Given the description of an element on the screen output the (x, y) to click on. 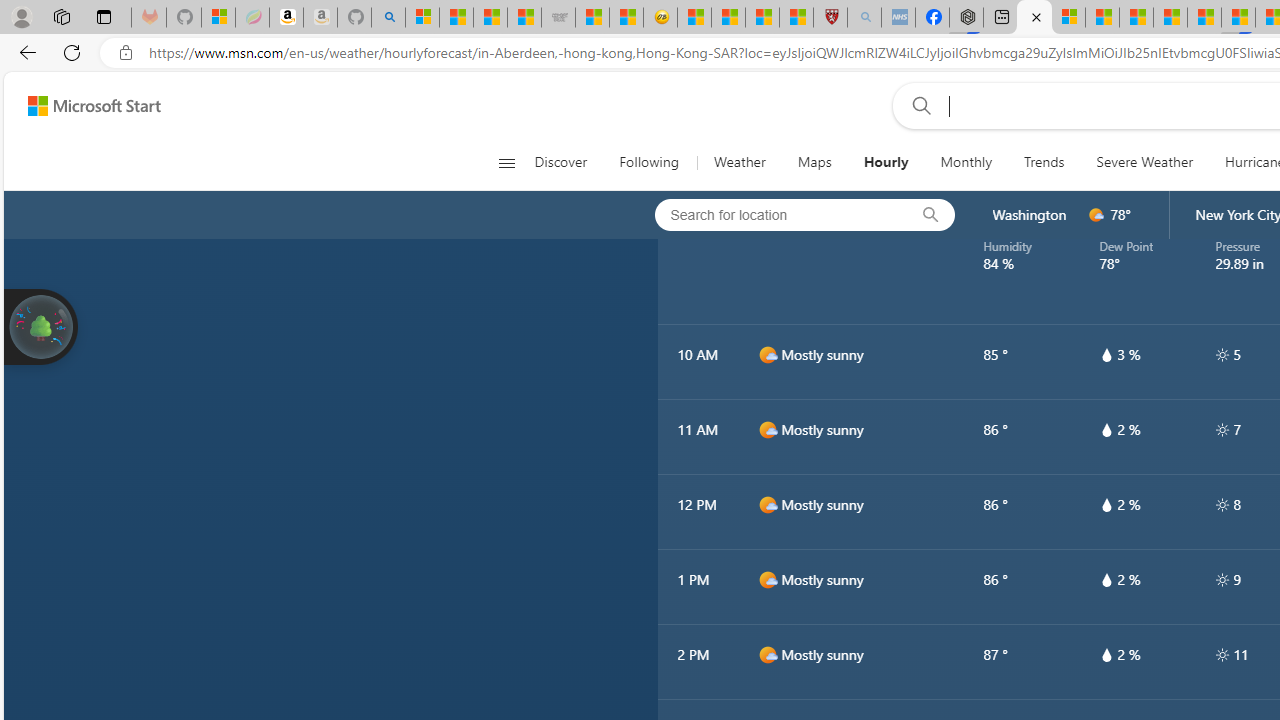
Join us in planting real trees to help our planet! (40, 325)
Hourly (886, 162)
locationBar/search (930, 215)
Trends (1044, 162)
Join us in planting real trees to help our planet! (40, 327)
14 Common Myths Debunked By Scientific Facts (1170, 17)
